Given the description of an element on the screen output the (x, y) to click on. 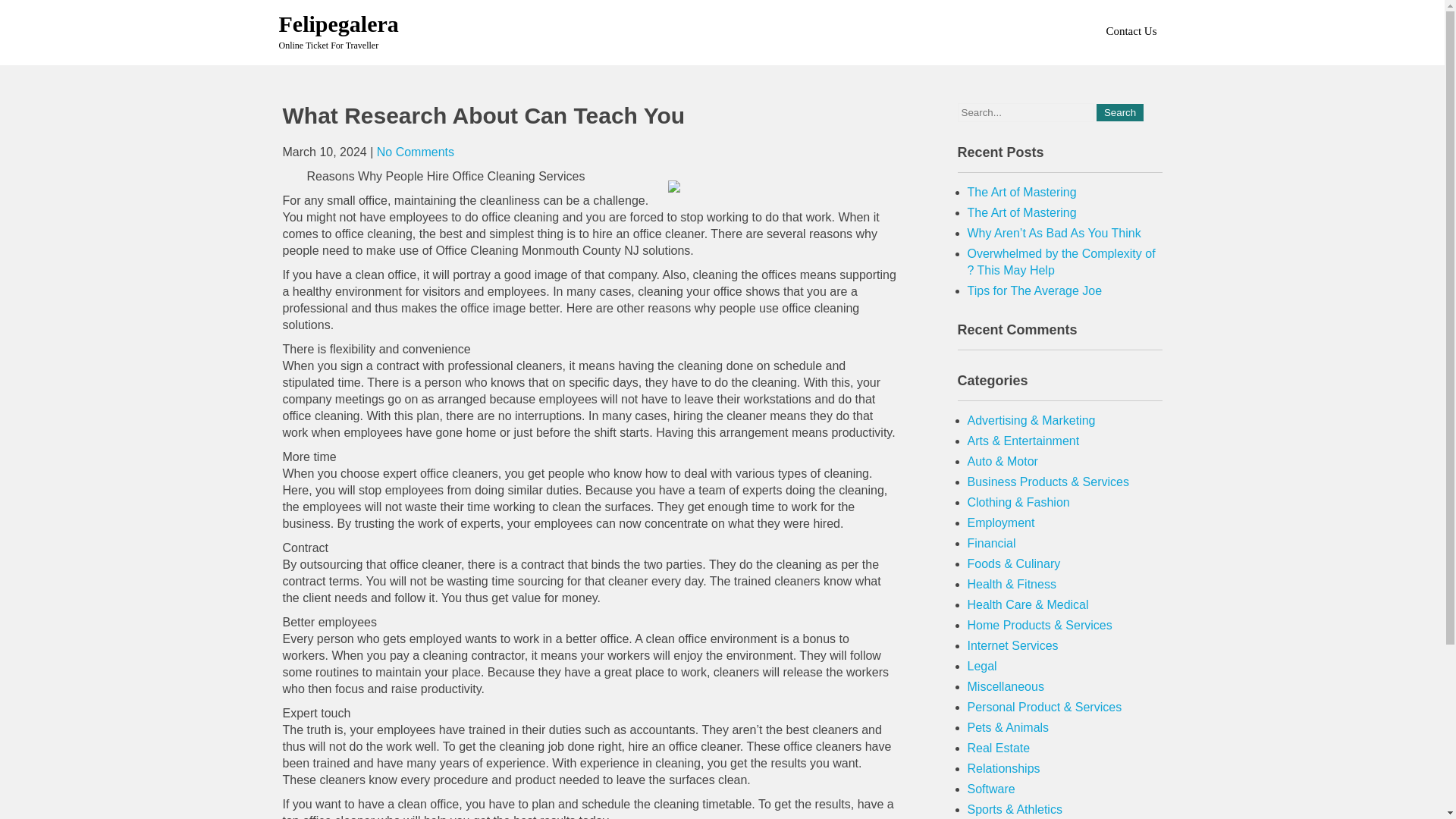
Contact Us (1130, 30)
Felipegalera (338, 23)
No Comments (415, 151)
Legal (982, 666)
Search (1119, 112)
Internet Services (1013, 645)
Software (991, 788)
Tips for The Average Joe (1035, 290)
The Art of Mastering (1022, 192)
Overwhelmed by the Complexity of ? This May Help (1062, 261)
Employment (1001, 522)
The Art of Mastering (1022, 212)
Search (1119, 112)
Real Estate (999, 748)
Search (1119, 112)
